Given the description of an element on the screen output the (x, y) to click on. 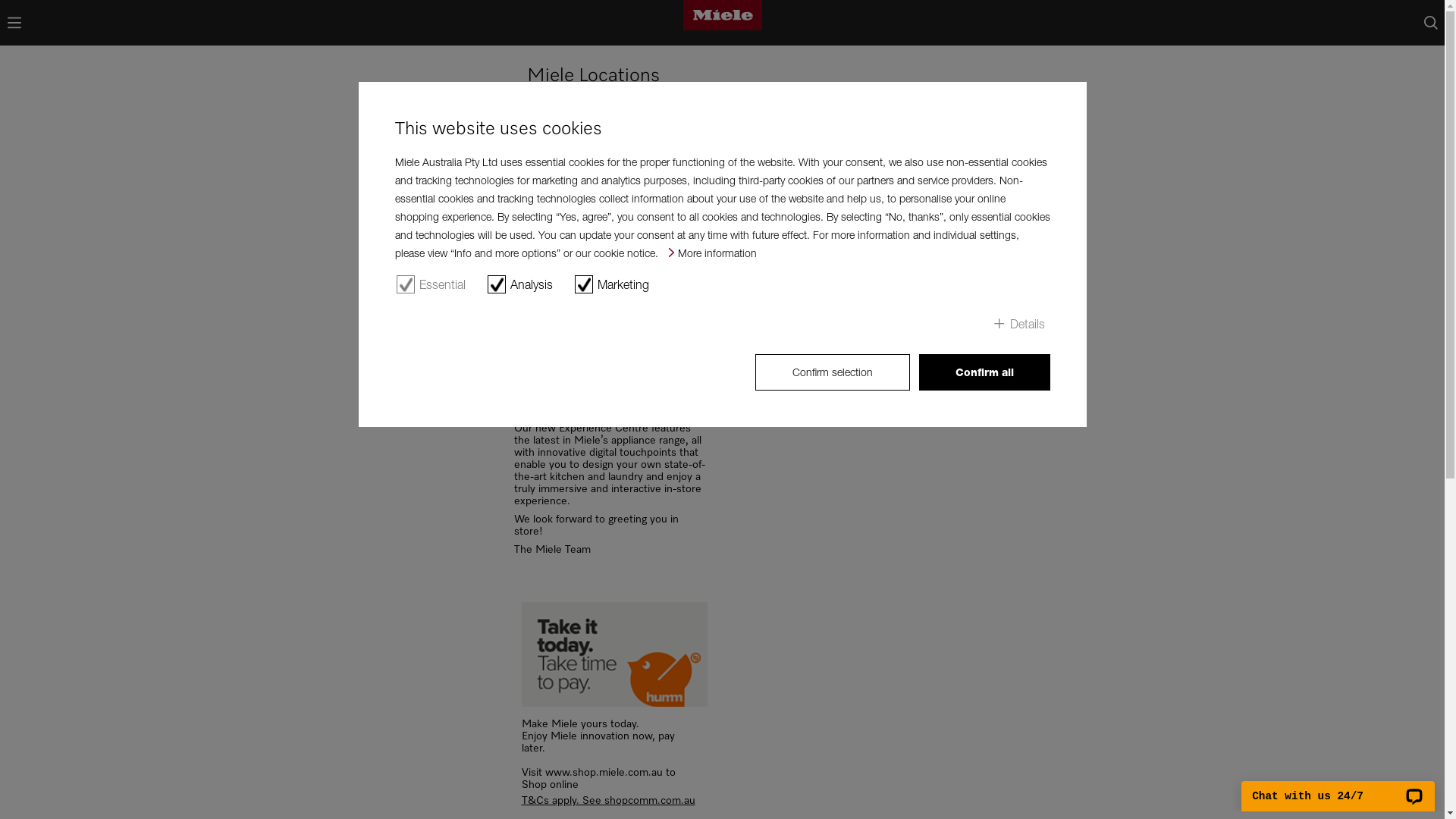
T&Cs apply. See shopcomm.com.au Element type: text (614, 800)
Confirm selection Element type: text (832, 372)
Confirm all Element type: text (984, 372)
More information Element type: text (712, 252)
  Element type: text (1429, 22)
  Element type: text (13, 22)
LiveChat chat widget Element type: hover (1337, 787)
